Given the description of an element on the screen output the (x, y) to click on. 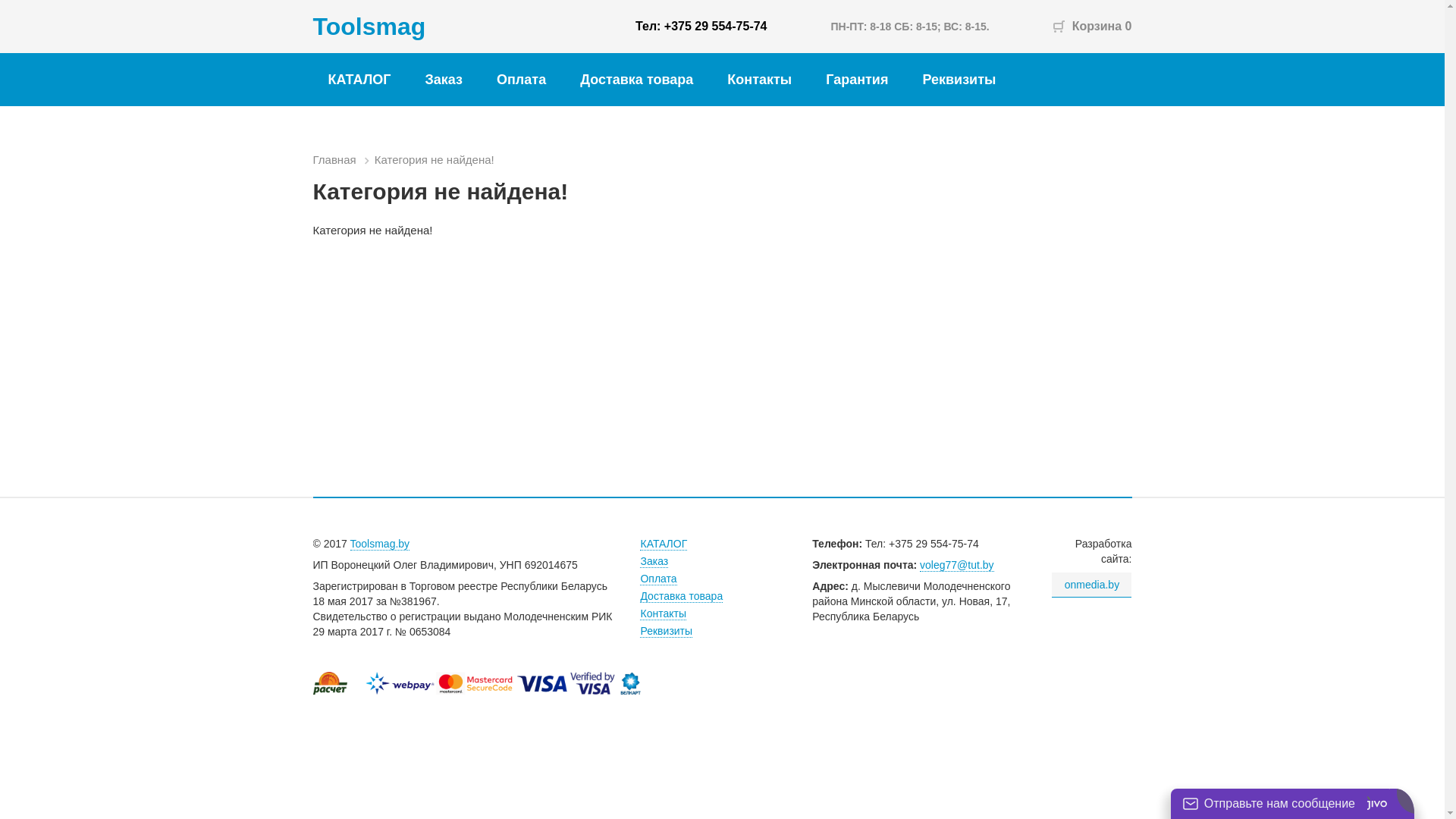
onmedia.by Element type: text (1091, 584)
voleg77@tut.by Element type: text (956, 564)
Toolsmag.by Element type: text (380, 543)
Toolsmag Element type: text (368, 26)
